Given the description of an element on the screen output the (x, y) to click on. 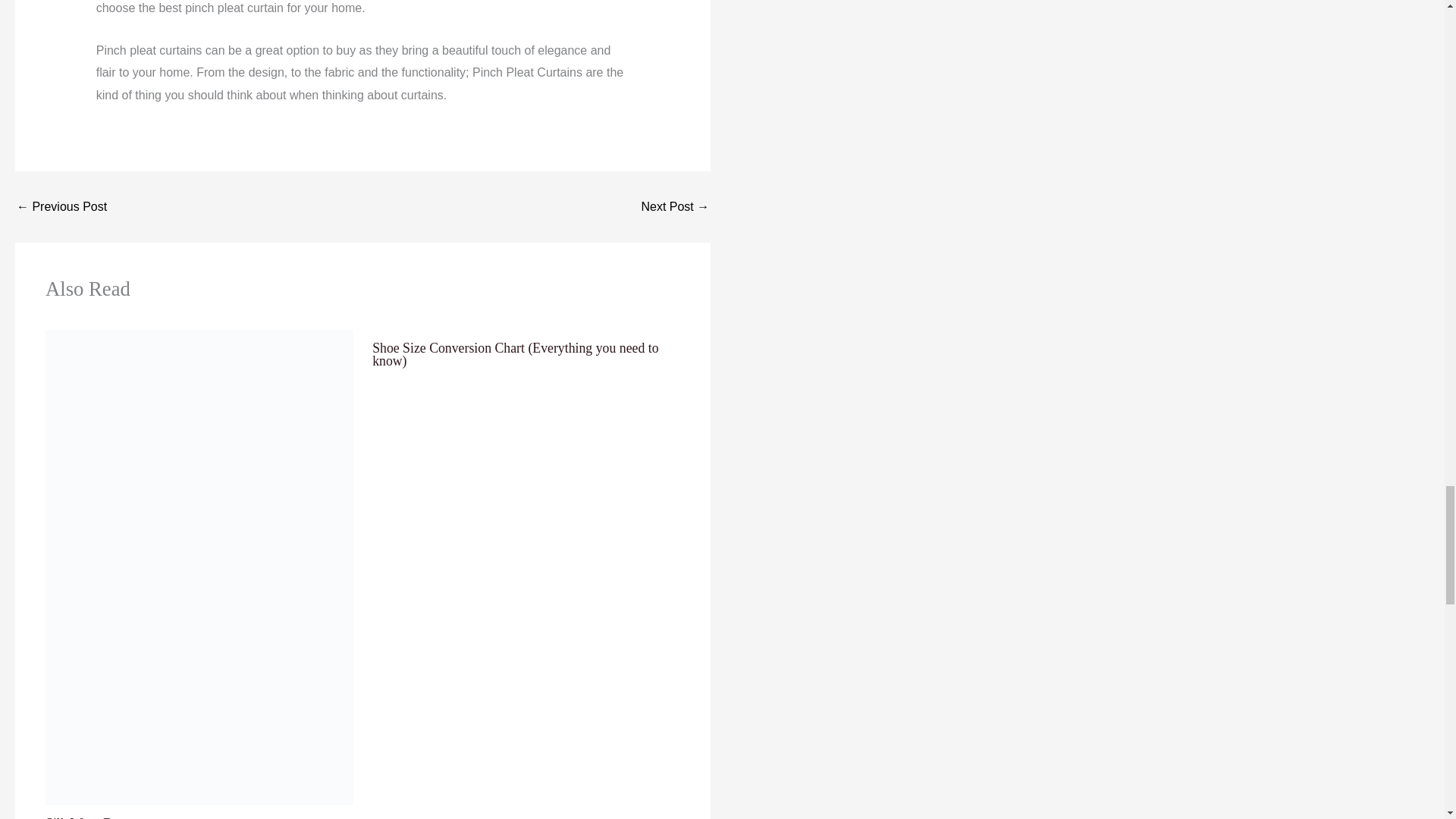
Where to Buy Bathroom Curtains (61, 206)
Where to Buy Curtain Panels (674, 206)
Silk Wrap Dress (89, 817)
